Given the description of an element on the screen output the (x, y) to click on. 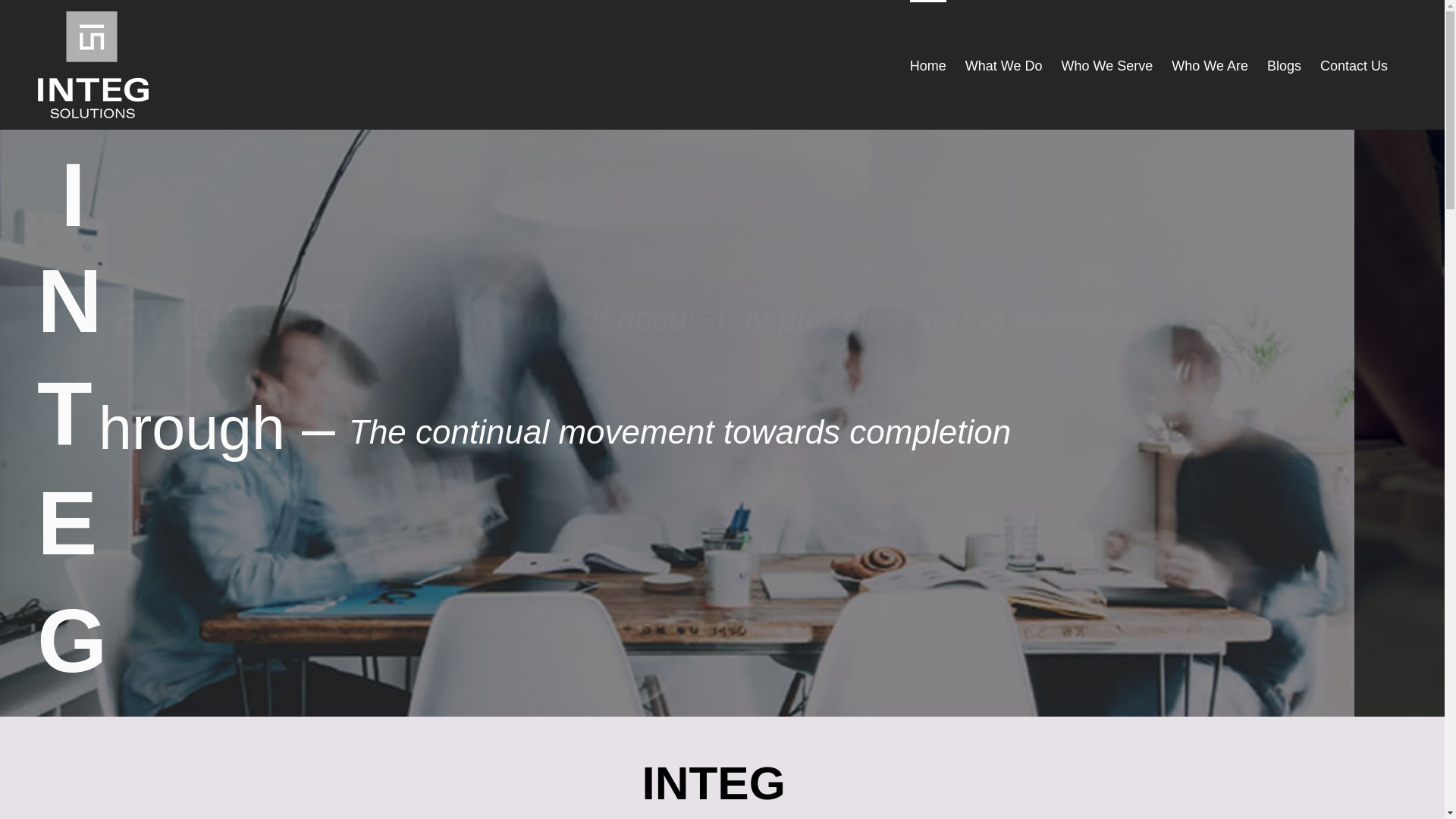
Contact Us Element type: text (1353, 64)
What We Do Element type: text (1003, 64)
Home Element type: text (928, 64)
Who We Are Element type: text (1209, 64)
Blogs Element type: text (1284, 64)
Who We Serve Element type: text (1106, 64)
